Given the description of an element on the screen output the (x, y) to click on. 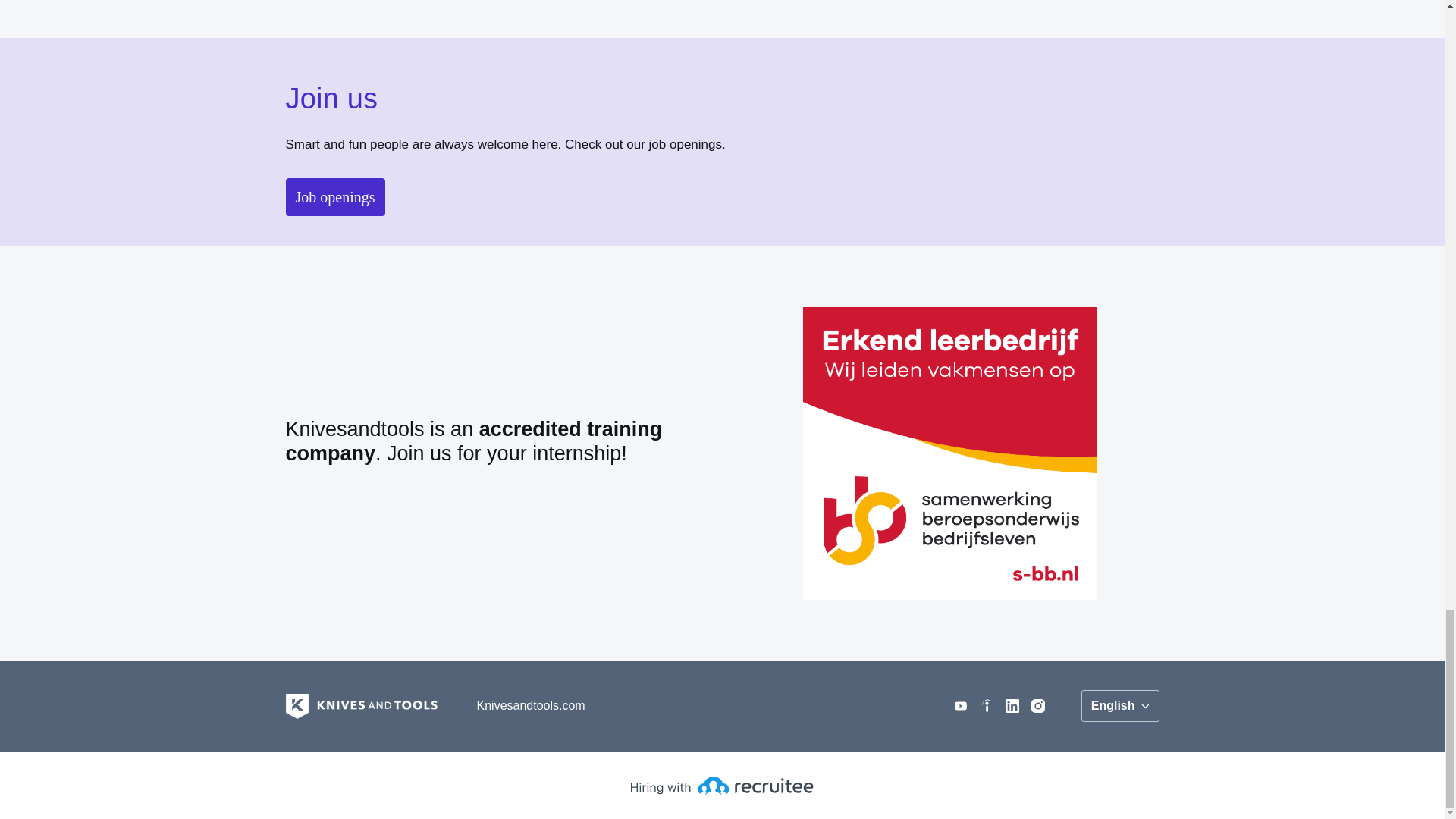
Job openings (334, 197)
youtube (960, 705)
English (1119, 705)
instagram (1038, 705)
indeed (986, 705)
Knivesandtools.com (530, 706)
Homepage (360, 705)
linkedin (1011, 705)
